Given the description of an element on the screen output the (x, y) to click on. 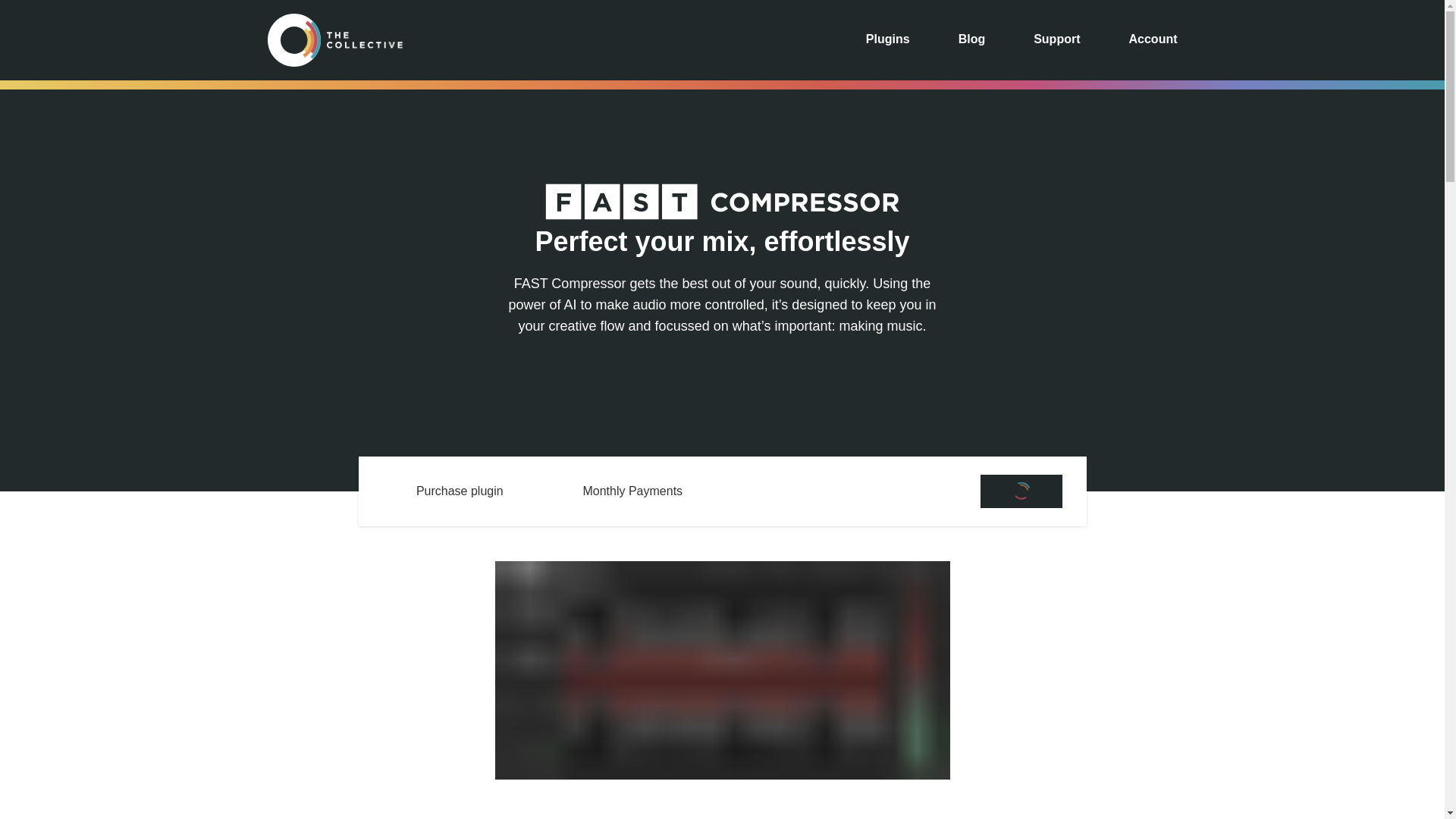
Blog (971, 40)
Plugins (888, 40)
Buy Now (1020, 491)
Account (1152, 40)
Support (1056, 40)
